Given the description of an element on the screen output the (x, y) to click on. 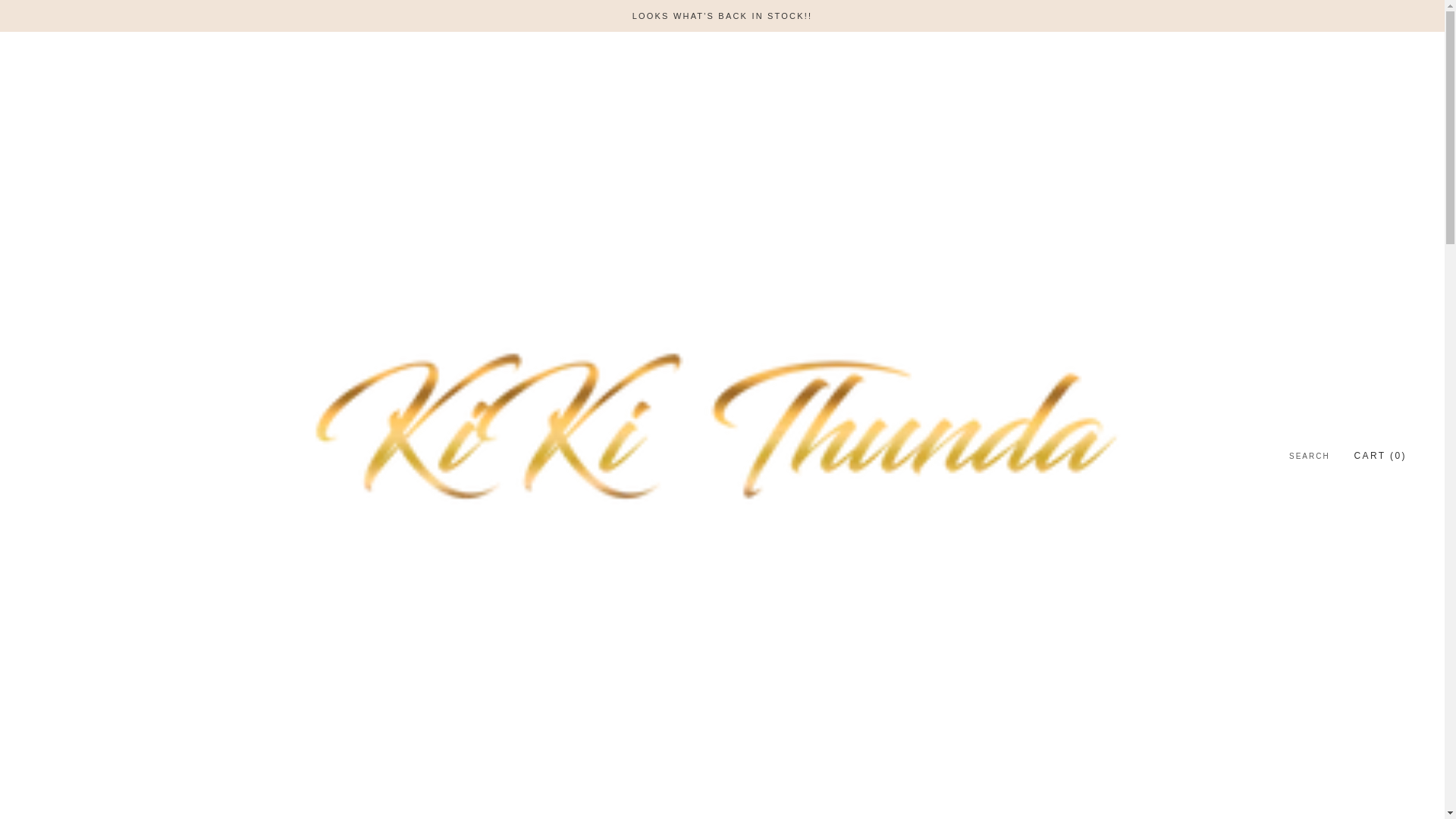
SEARCH (1309, 456)
LOOKS WHAT'S BACK IN STOCK!! (721, 15)
